Given the description of an element on the screen output the (x, y) to click on. 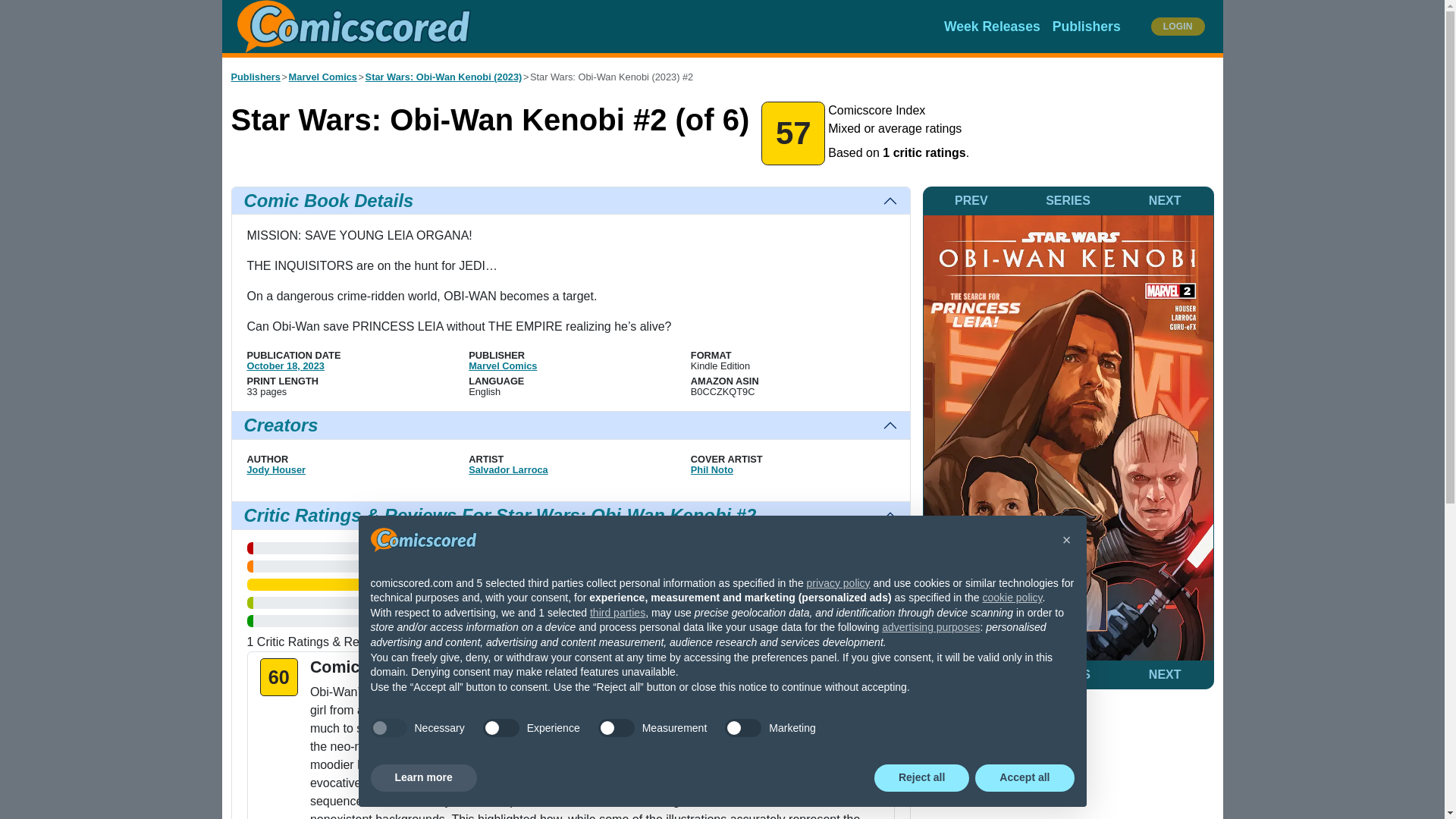
Marvel Comics (502, 365)
Publishers (1086, 26)
false (743, 728)
Week Releases (991, 26)
Next (1165, 200)
privacy policy (838, 582)
NEXT (1165, 200)
Phil Noto (711, 469)
false (616, 728)
Series (1067, 200)
October 18, 2023 (285, 365)
Week Releases (991, 26)
SERIES (1067, 200)
Accept all (1024, 777)
Marvel Comics (322, 76)
